Given the description of an element on the screen output the (x, y) to click on. 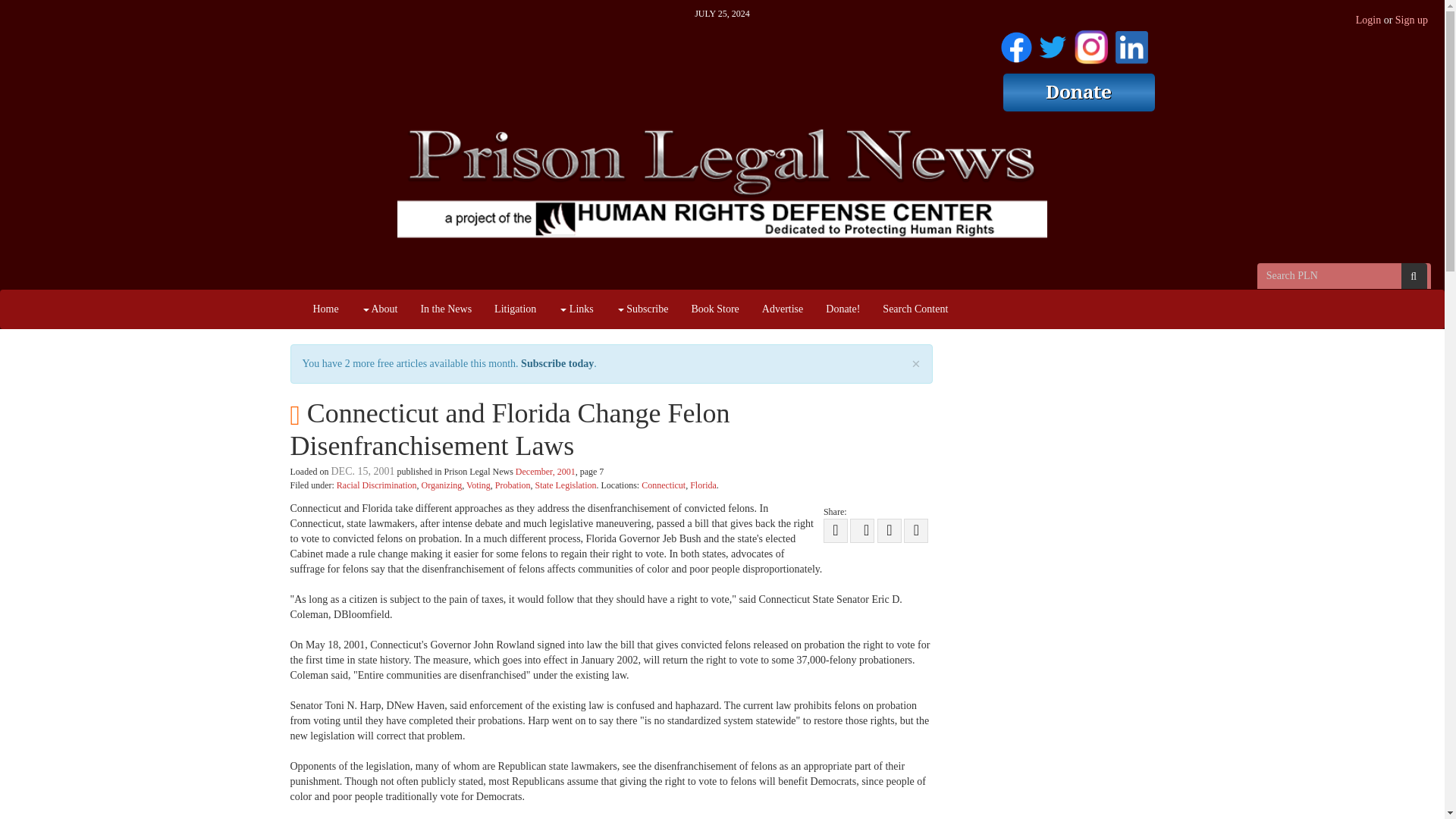
HRDC Instagram Page (1091, 44)
Advertise (782, 309)
Racial Discrimination (376, 484)
Donate! (841, 309)
Login (1367, 19)
Prison Legal News FaceBook Page (1016, 44)
About (379, 309)
Search Content (914, 309)
Links (575, 309)
Paul Wright's LinkedIn Page (1131, 44)
Litigation (515, 309)
Subscribe (642, 309)
Subscribe today (557, 363)
Book Store (714, 309)
Sign up (1411, 19)
